Given the description of an element on the screen output the (x, y) to click on. 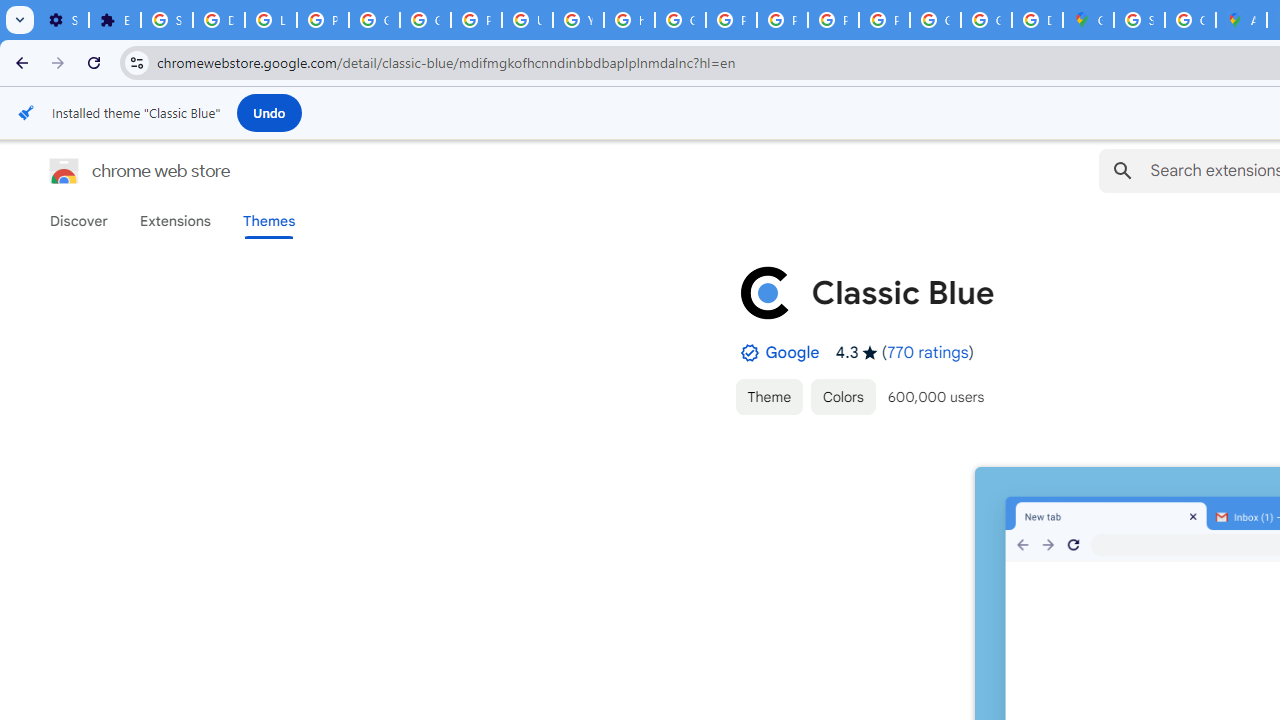
Item logo image for Classic Blue (765, 292)
Privacy Help Center - Policies Help (731, 20)
Google Maps (1087, 20)
Settings - On startup (63, 20)
